Given the description of an element on the screen output the (x, y) to click on. 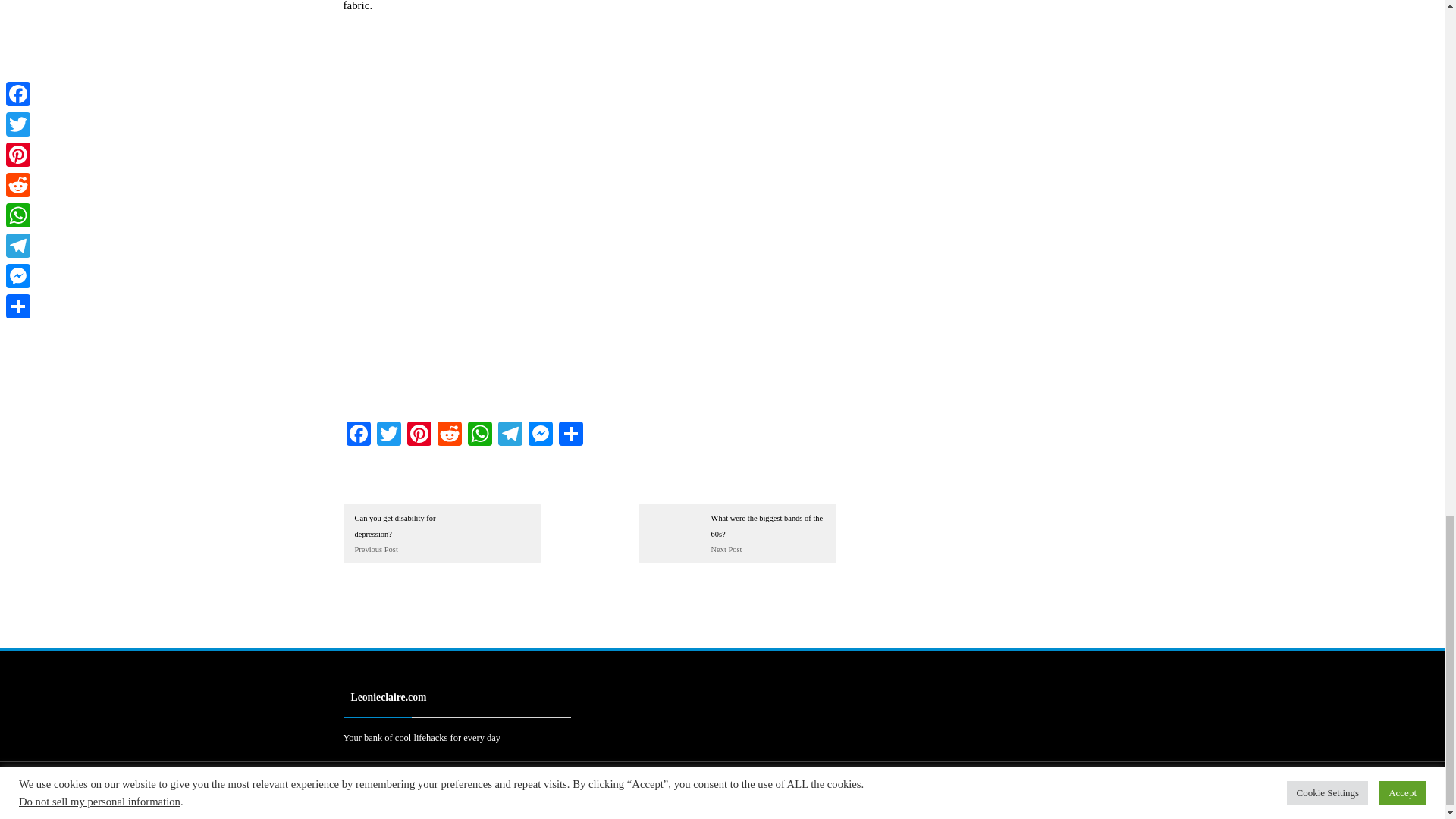
Facebook (357, 435)
Pinterest (418, 435)
Facebook (357, 435)
Pinterest (418, 435)
Reddit (448, 435)
Hamgamweb (472, 798)
Reddit (448, 435)
Twitter (387, 435)
Messenger (539, 435)
Messenger (539, 435)
Telegram (509, 435)
WhatsApp (479, 435)
WhatsApp (479, 435)
Twitter (387, 435)
